Given the description of an element on the screen output the (x, y) to click on. 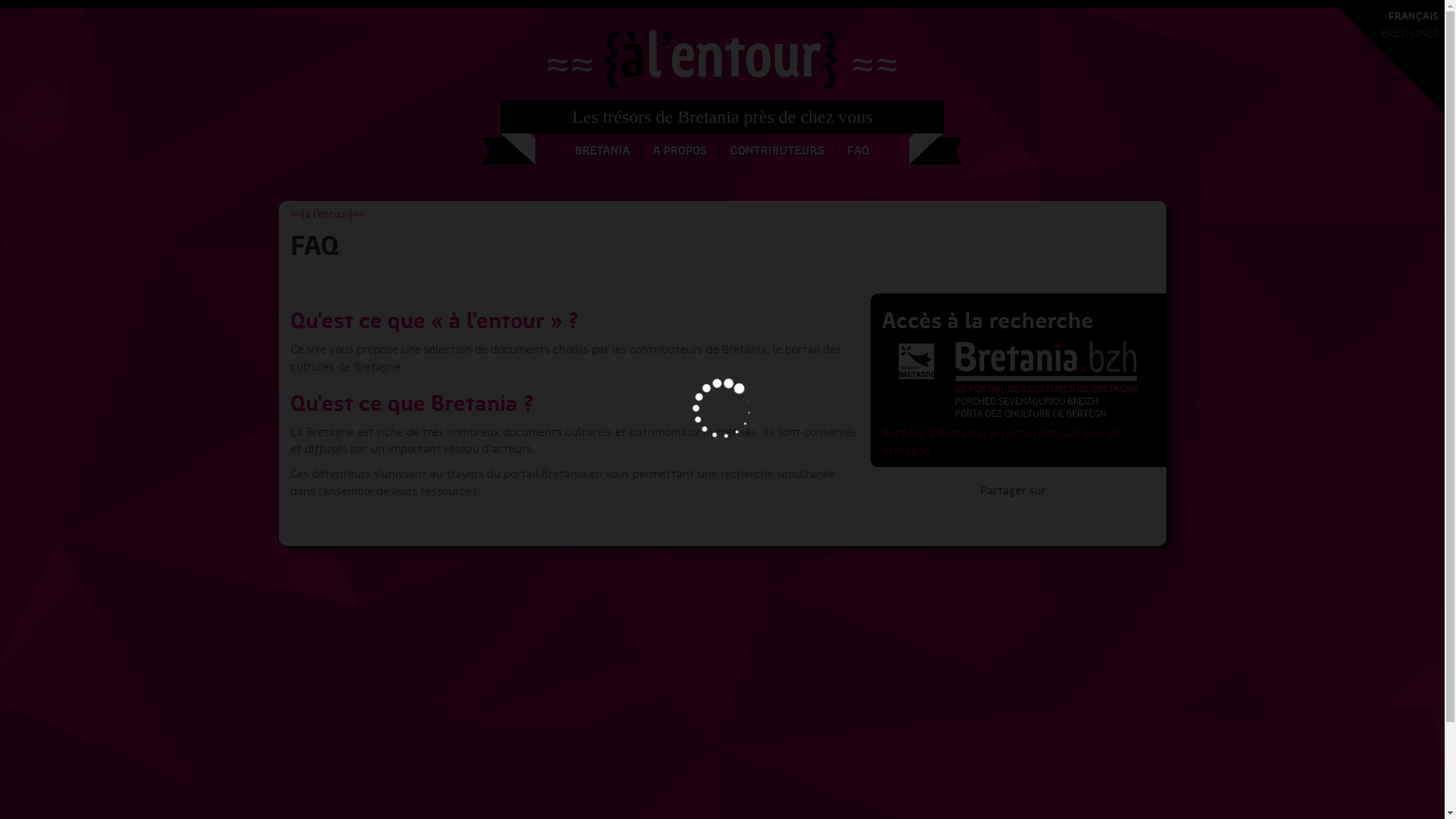
A PROPOS Element type: text (679, 150)
BRETANIA Element type: text (602, 150)
CONTRIBUTEURS Element type: text (777, 150)
FAQ Element type: text (858, 150)
